Given the description of an element on the screen output the (x, y) to click on. 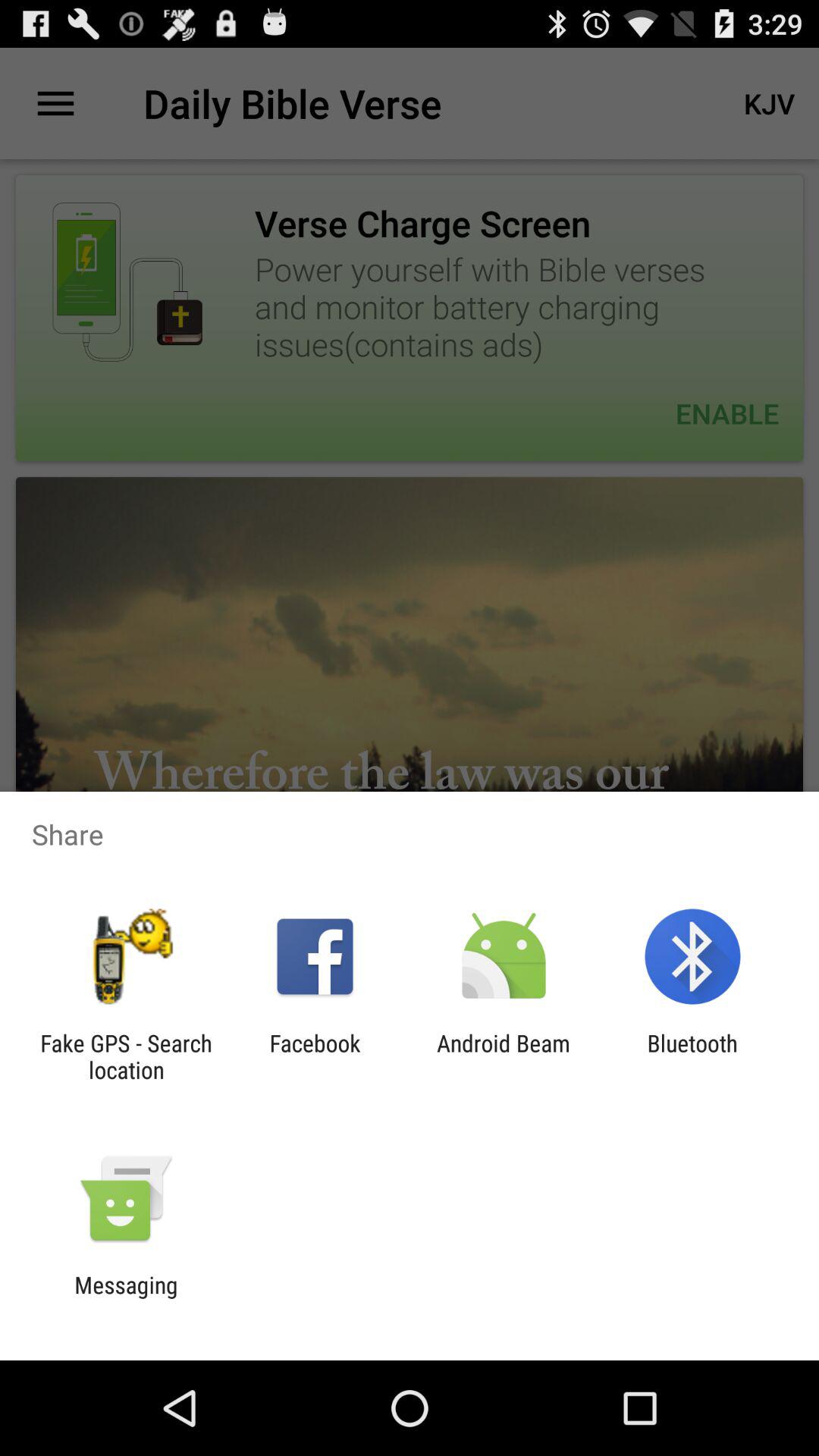
click app next to the android beam icon (692, 1056)
